Given the description of an element on the screen output the (x, y) to click on. 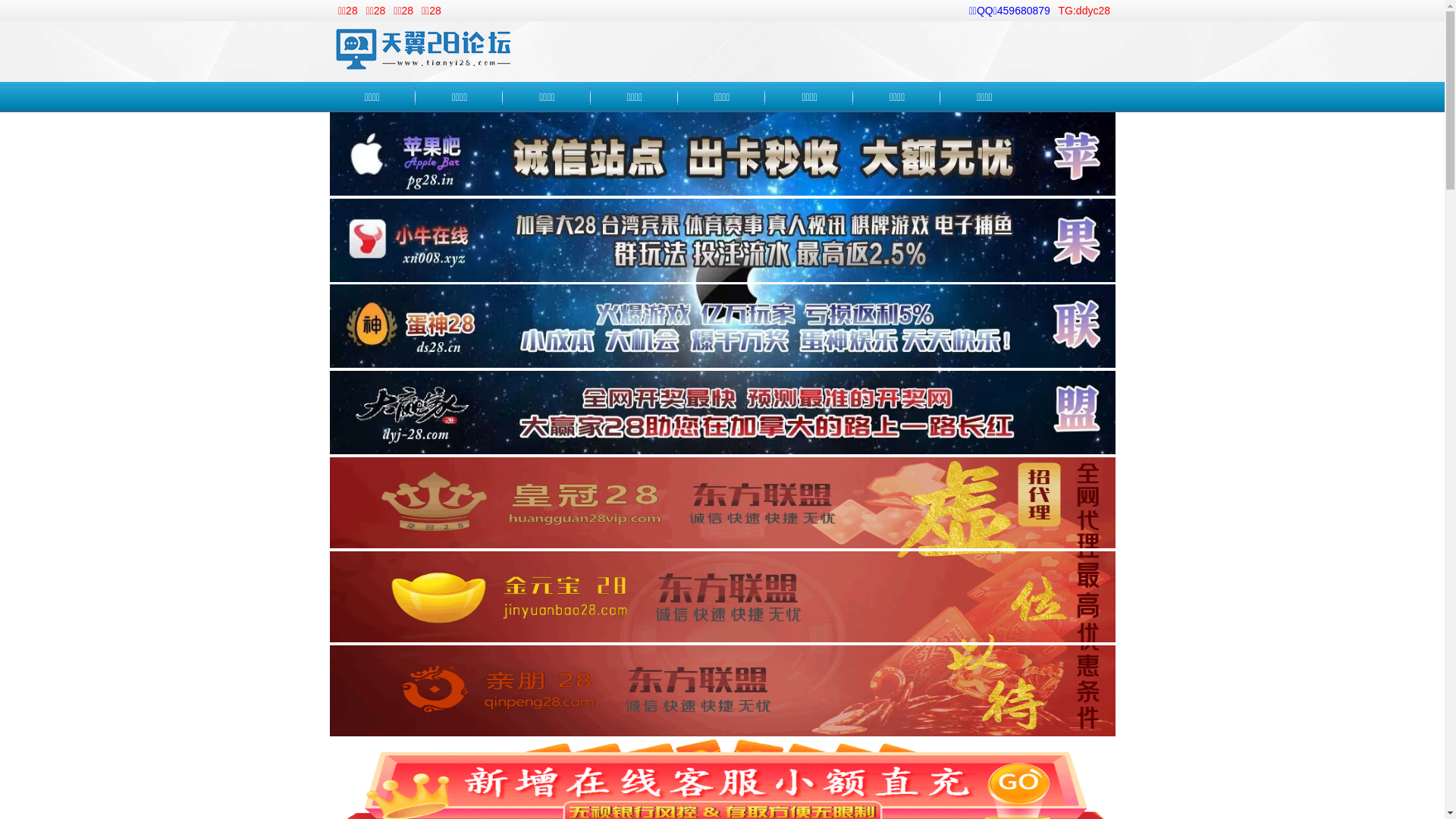
TG:ddyc28 Element type: text (1084, 10)
